Given the description of an element on the screen output the (x, y) to click on. 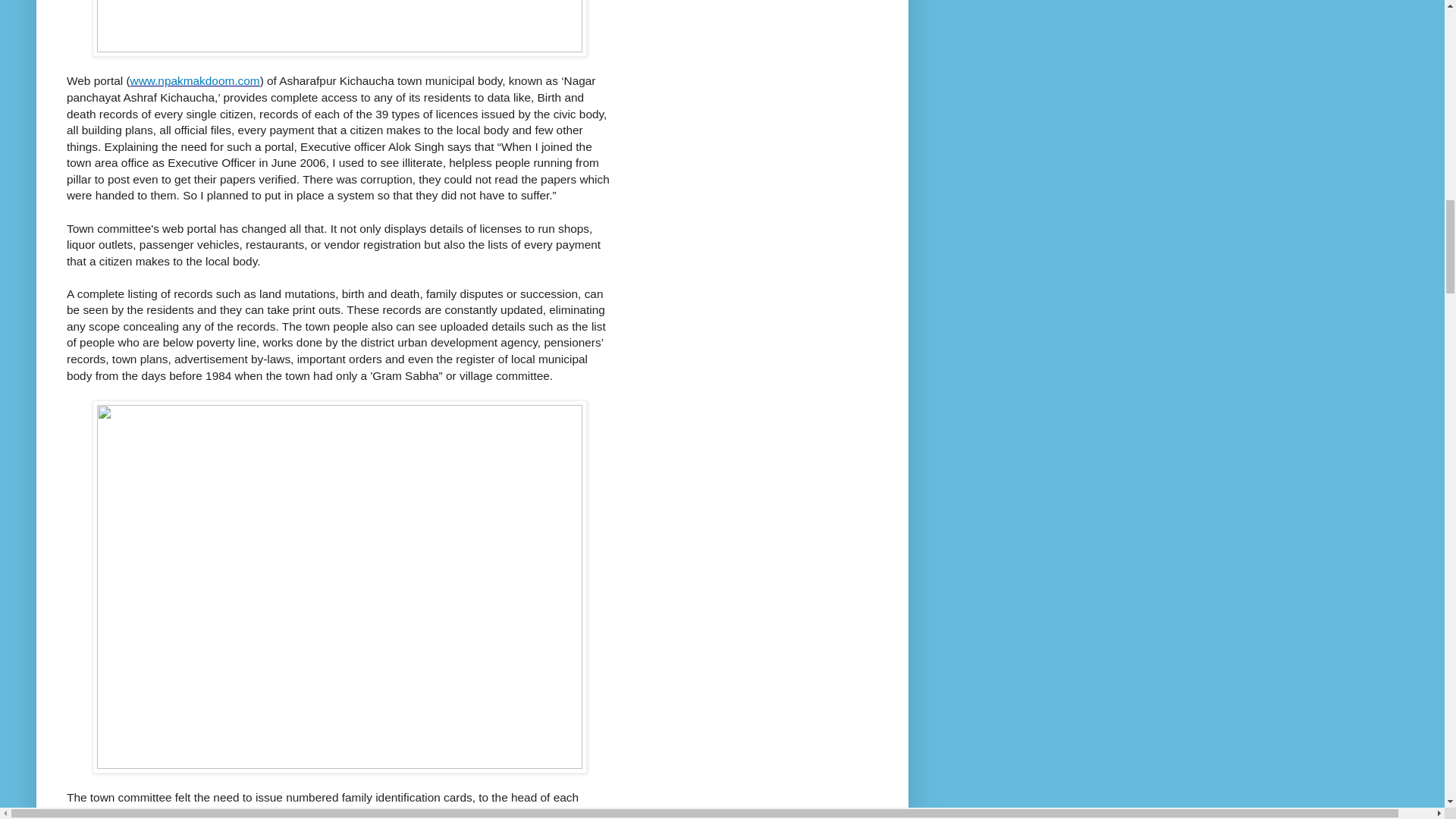
www.npakmakdoom.com (195, 80)
